Given the description of an element on the screen output the (x, y) to click on. 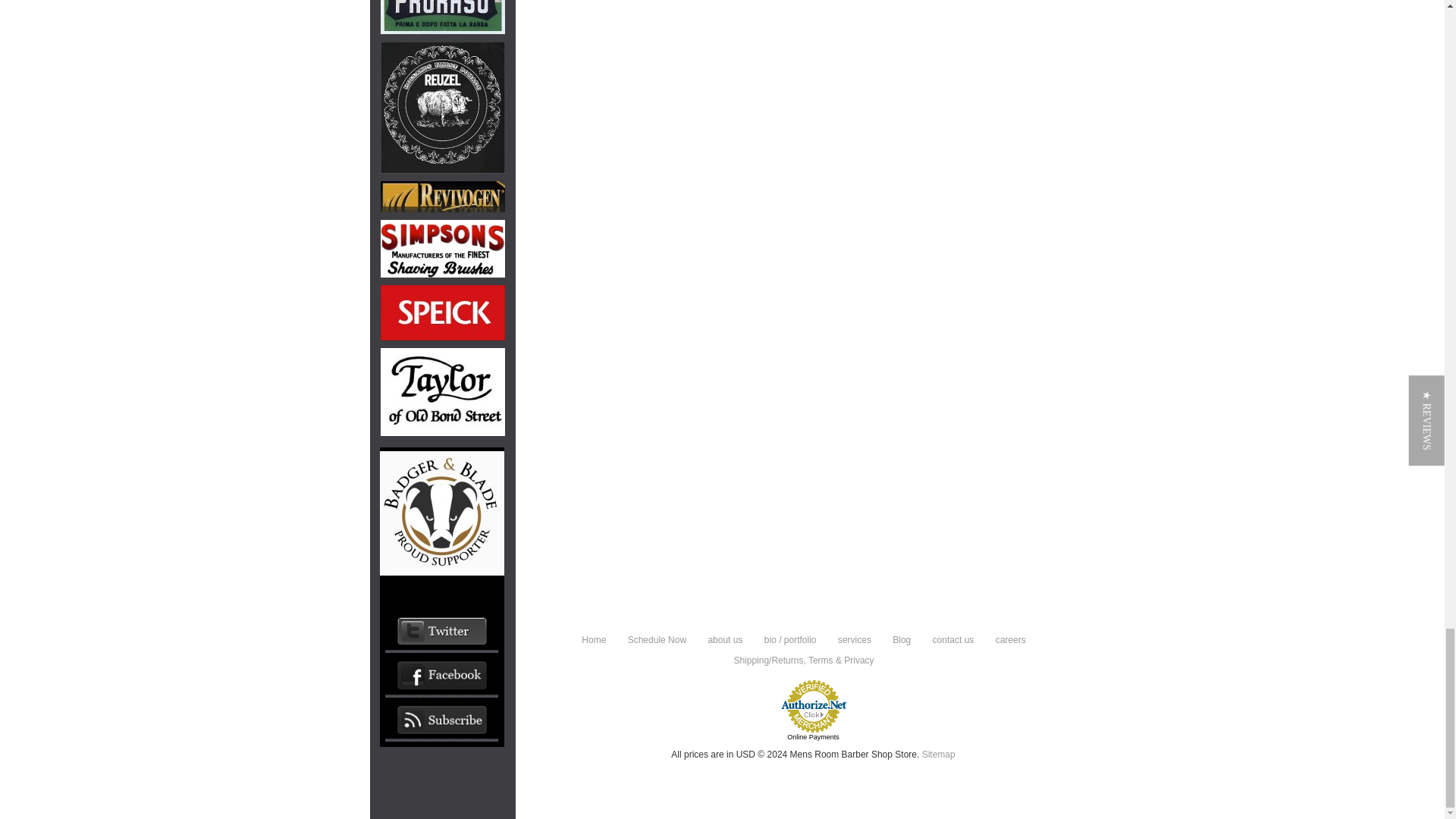
Default Currency (745, 754)
